Given the description of an element on the screen output the (x, y) to click on. 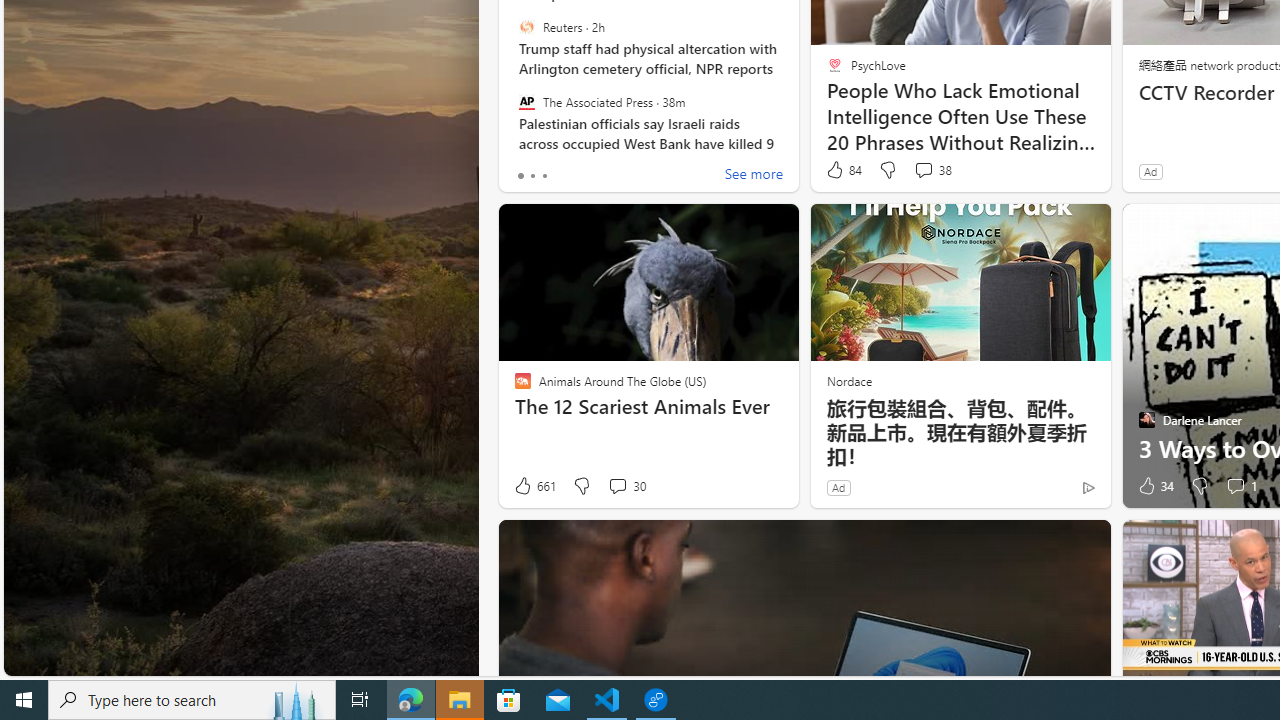
View comments 1 Comment (1240, 485)
View comments 30 Comment (626, 485)
Reuters (526, 27)
View comments 30 Comment (617, 485)
tab-2 (543, 175)
View comments 38 Comment (923, 169)
